Given the description of an element on the screen output the (x, y) to click on. 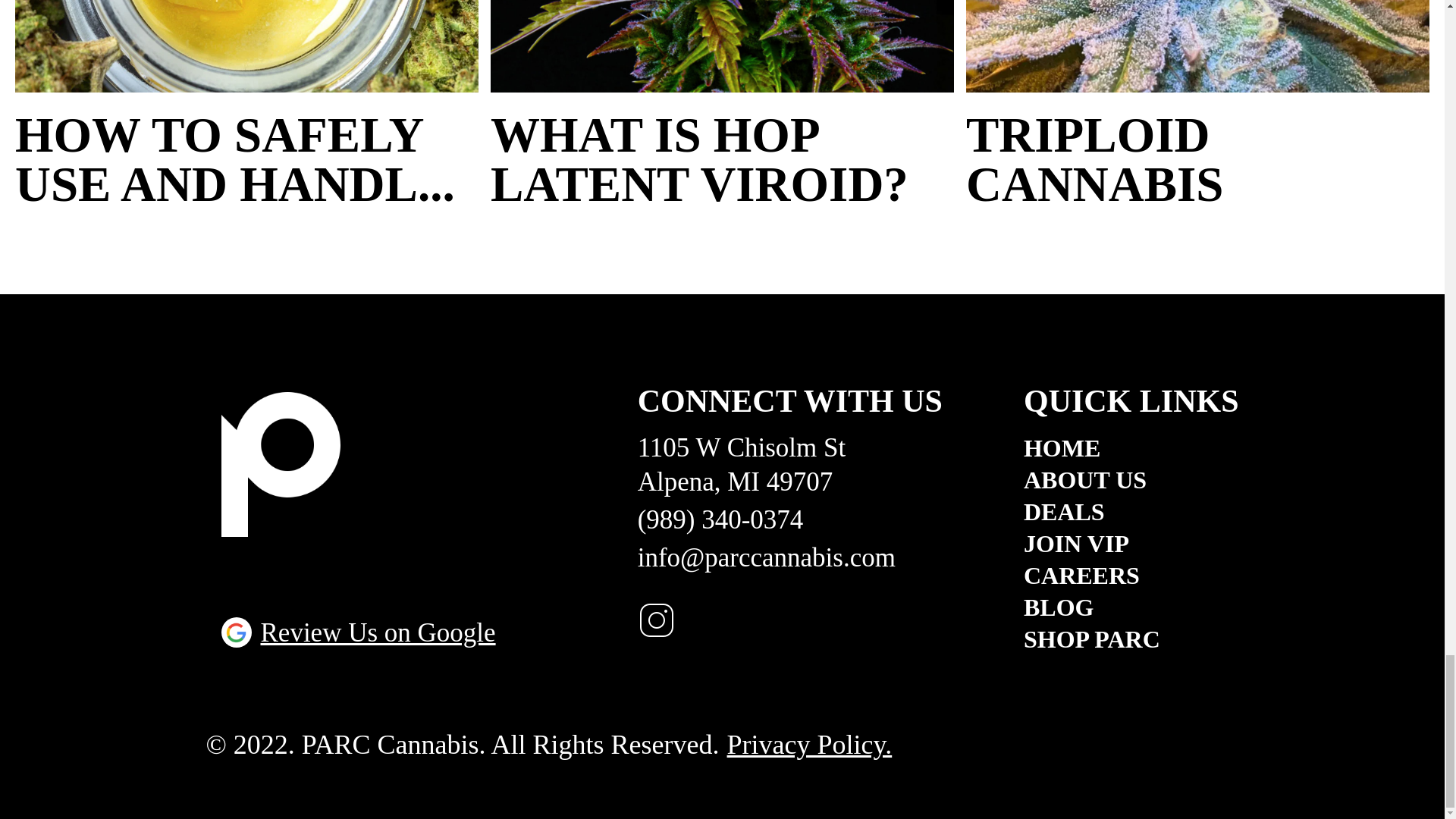
Privacy Policy. (809, 744)
WHAT IS HOP LATENT VIROID? (721, 159)
DEALS (1131, 511)
TRIPLOID CANNABIS (1197, 159)
BLOG (1131, 607)
Review Us on Google (358, 632)
ABOUT US (1131, 479)
JOIN VIP (1131, 543)
SHOP PARC (1131, 639)
CAREERS (1131, 575)
HOME (1131, 447)
HOW TO SAFELY USE AND HANDL... (246, 159)
